Given the description of an element on the screen output the (x, y) to click on. 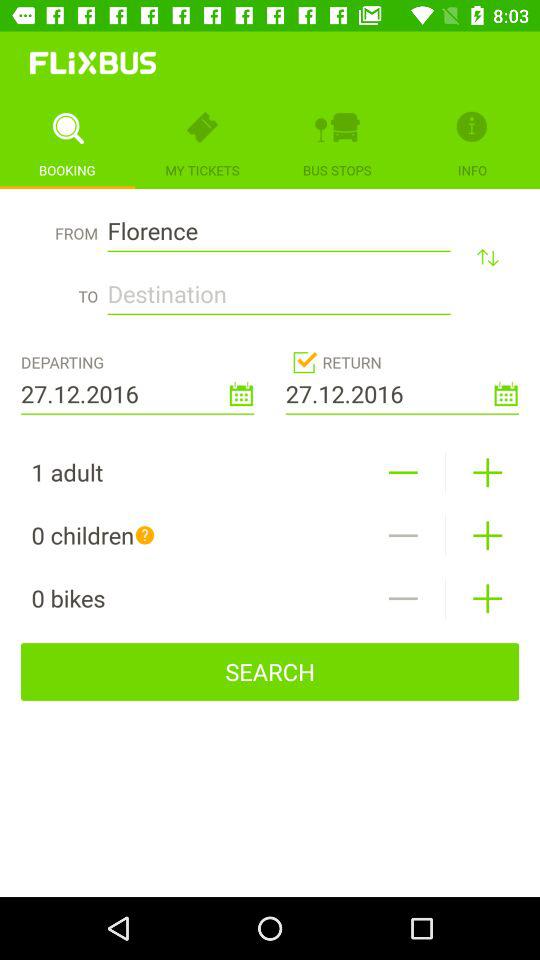
add an adult passenger (487, 472)
